Given the description of an element on the screen output the (x, y) to click on. 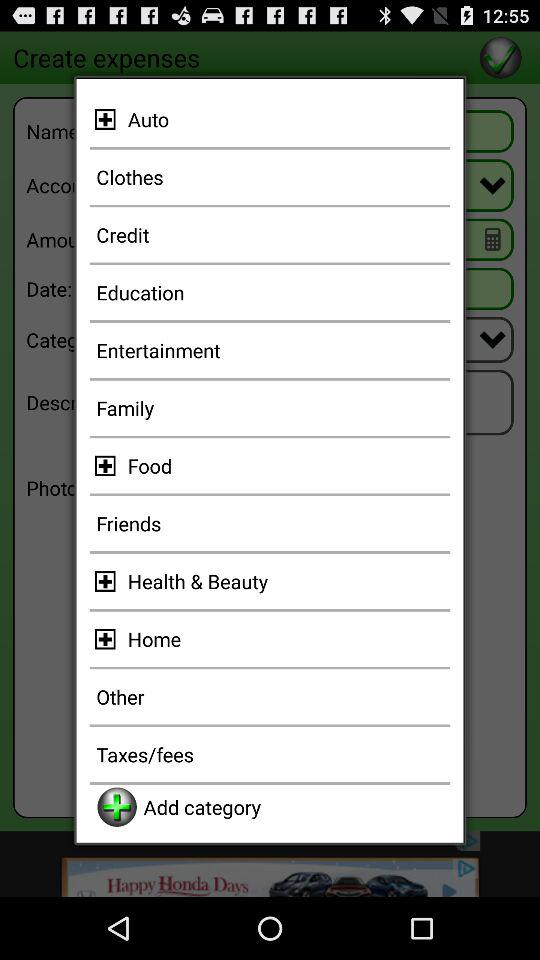
add more item (108, 465)
